Given the description of an element on the screen output the (x, y) to click on. 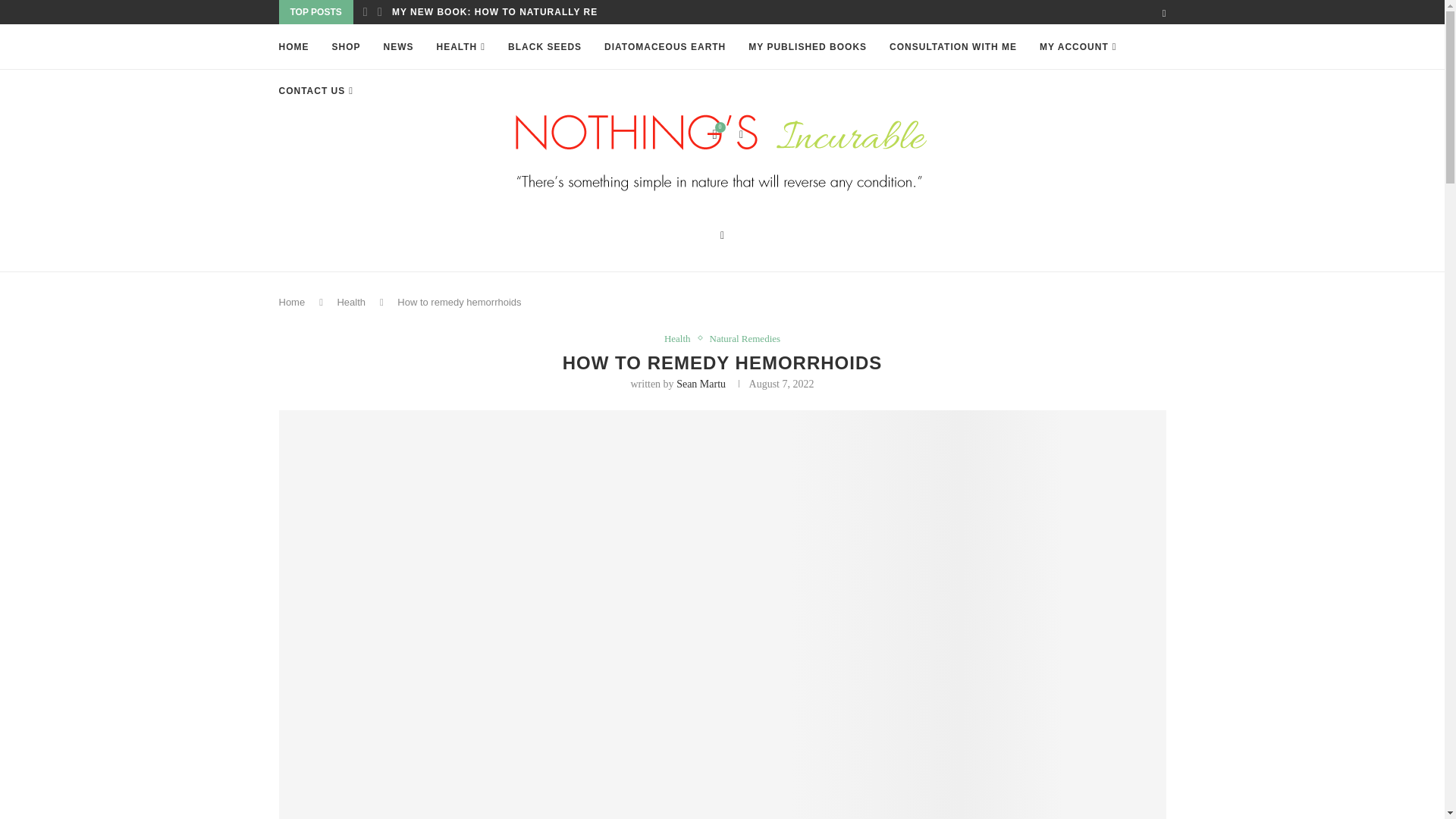
CONTACT US (316, 90)
MY PUBLISHED BOOKS (807, 46)
CONSULTATION WITH ME (952, 46)
MY NEW BOOK: HOW TO NATURALLY REVERSE DIABETES... (544, 12)
BLACK SEEDS (544, 46)
HEALTH (461, 46)
DIATOMACEOUS EARTH (664, 46)
Home (292, 301)
MY ACCOUNT (1077, 46)
